Given the description of an element on the screen output the (x, y) to click on. 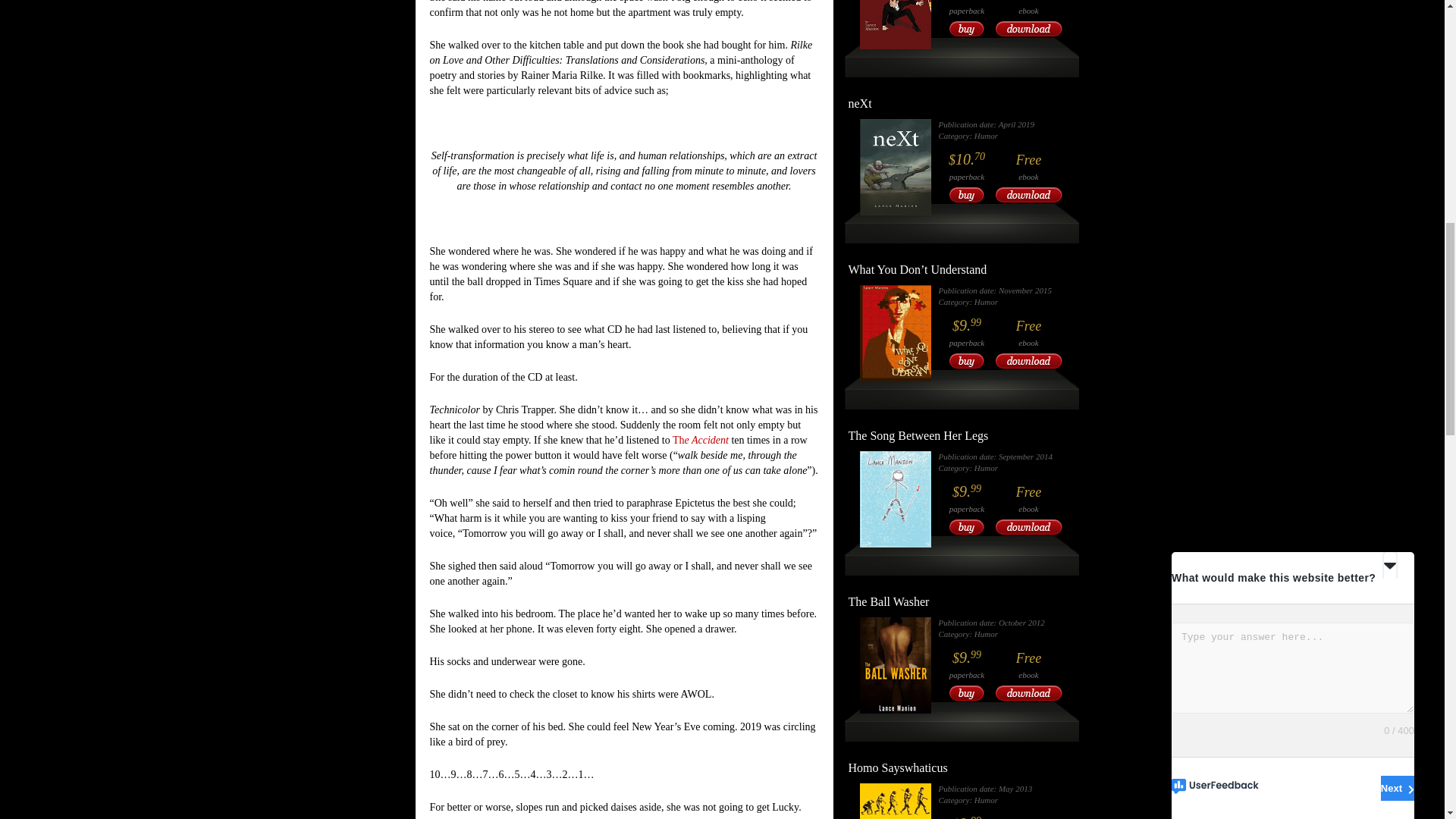
The Accident (702, 439)
